Given the description of an element on the screen output the (x, y) to click on. 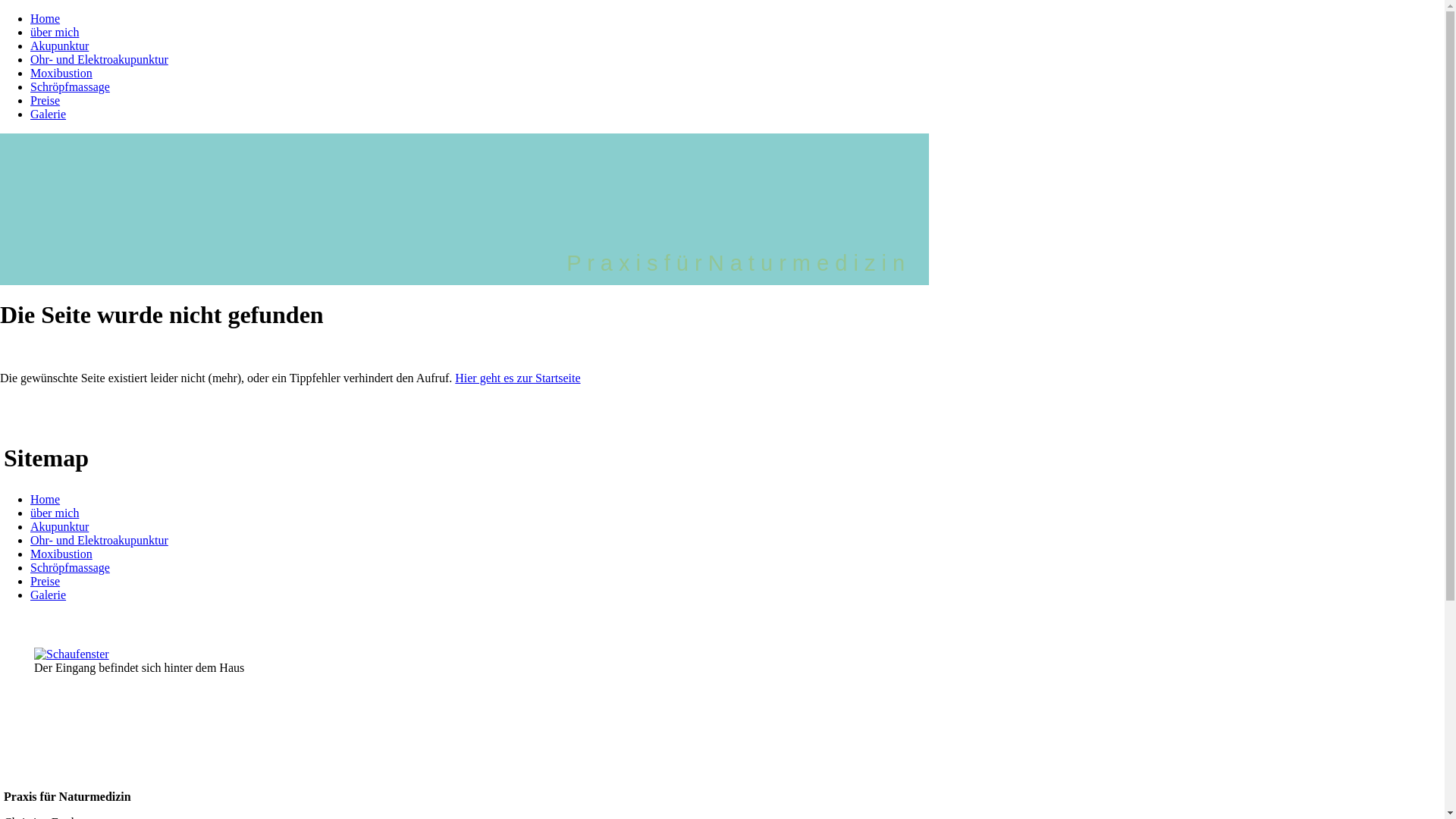
Ohr- und Elektroakupunktur Element type: text (99, 539)
Akupunktur Element type: text (59, 45)
Hier geht es zur Startseite Element type: text (517, 377)
Akupunktur Element type: text (59, 526)
Home Element type: text (44, 498)
Moxibustion Element type: text (61, 72)
Home Element type: text (44, 18)
Ohr- und Elektroakupunktur Element type: text (99, 59)
Moxibustion Element type: text (61, 553)
Preise Element type: text (44, 580)
Galerie Element type: text (47, 594)
Galerie Element type: text (47, 113)
Preise Element type: text (44, 100)
